Given the description of an element on the screen output the (x, y) to click on. 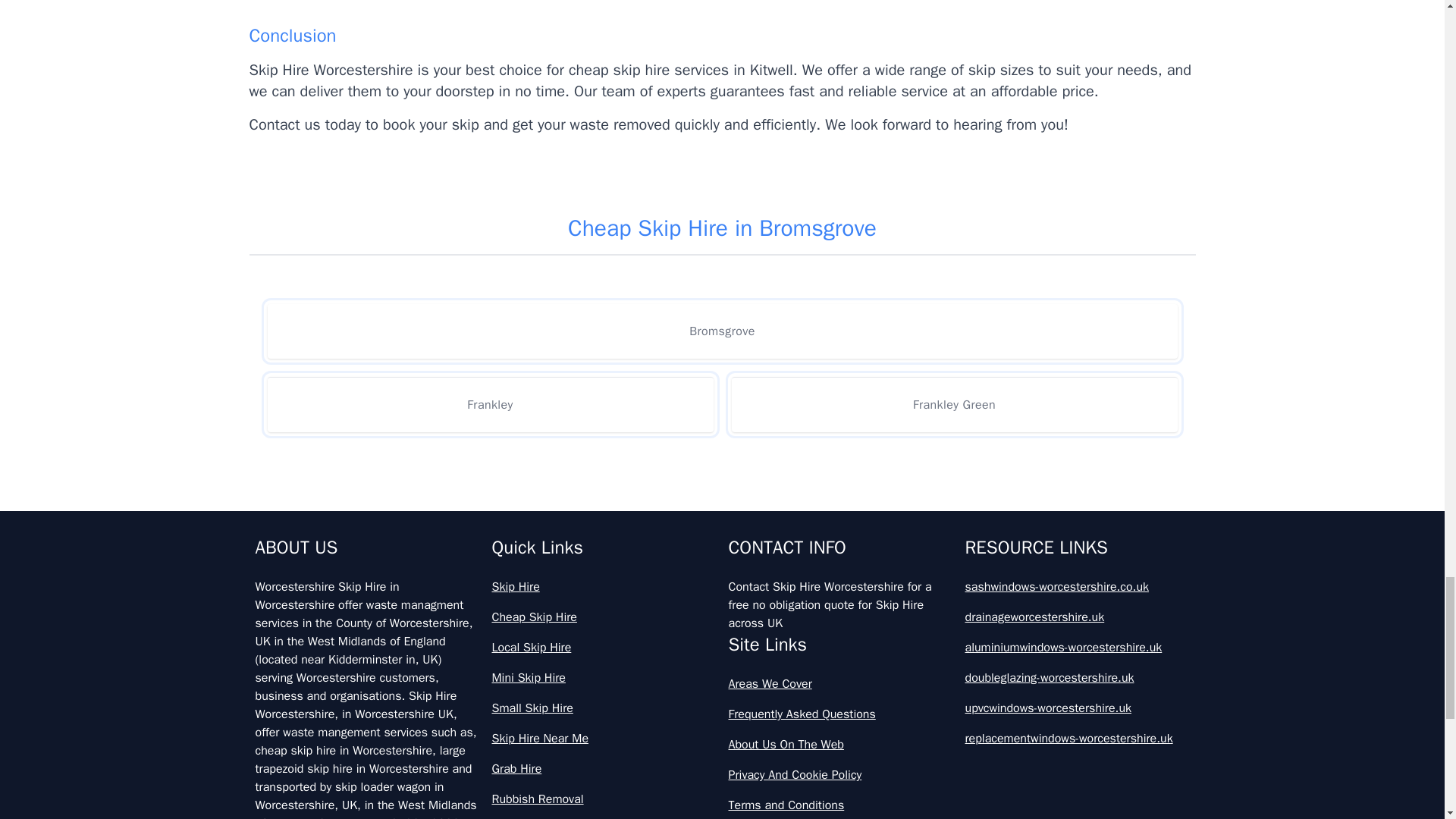
Frankley (489, 404)
doubleglazing-worcestershire.uk (1076, 678)
Frankley Green (953, 404)
Small Skip Hire (604, 708)
Cheap Skip Hire (604, 617)
Grab Hire (604, 769)
Skip Hire (604, 587)
drainageworcestershire.uk (1076, 617)
aluminiumwindows-worcestershire.uk (1076, 647)
replacementwindows-worcestershire.uk (1076, 738)
Rubbish Removal (604, 799)
Bromsgrove (721, 330)
Local Skip Hire (604, 647)
Mini Skip Hire (604, 678)
Skip Hire Near Me (604, 738)
